Given the description of an element on the screen output the (x, y) to click on. 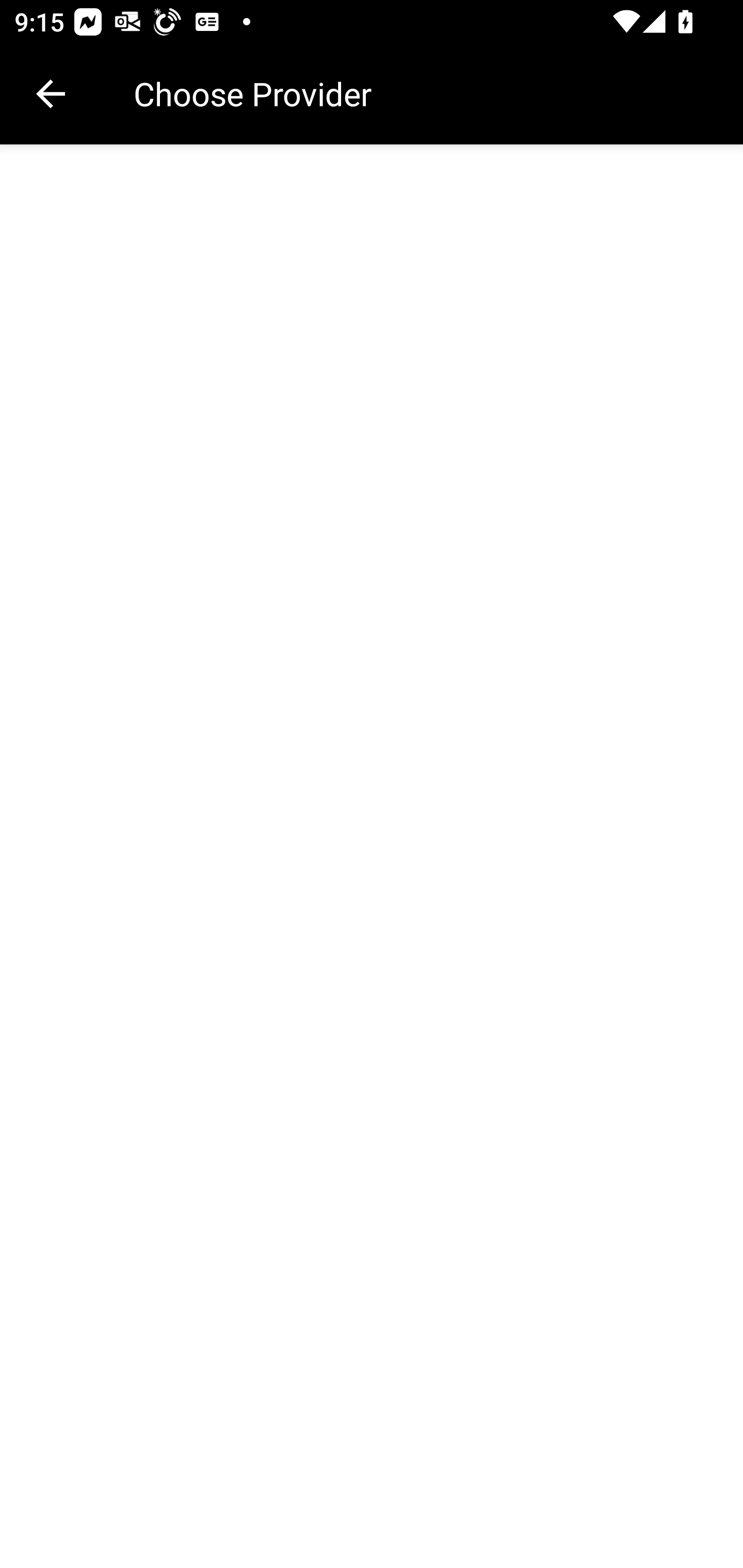
Navigate up (50, 93)
